Given the description of an element on the screen output the (x, y) to click on. 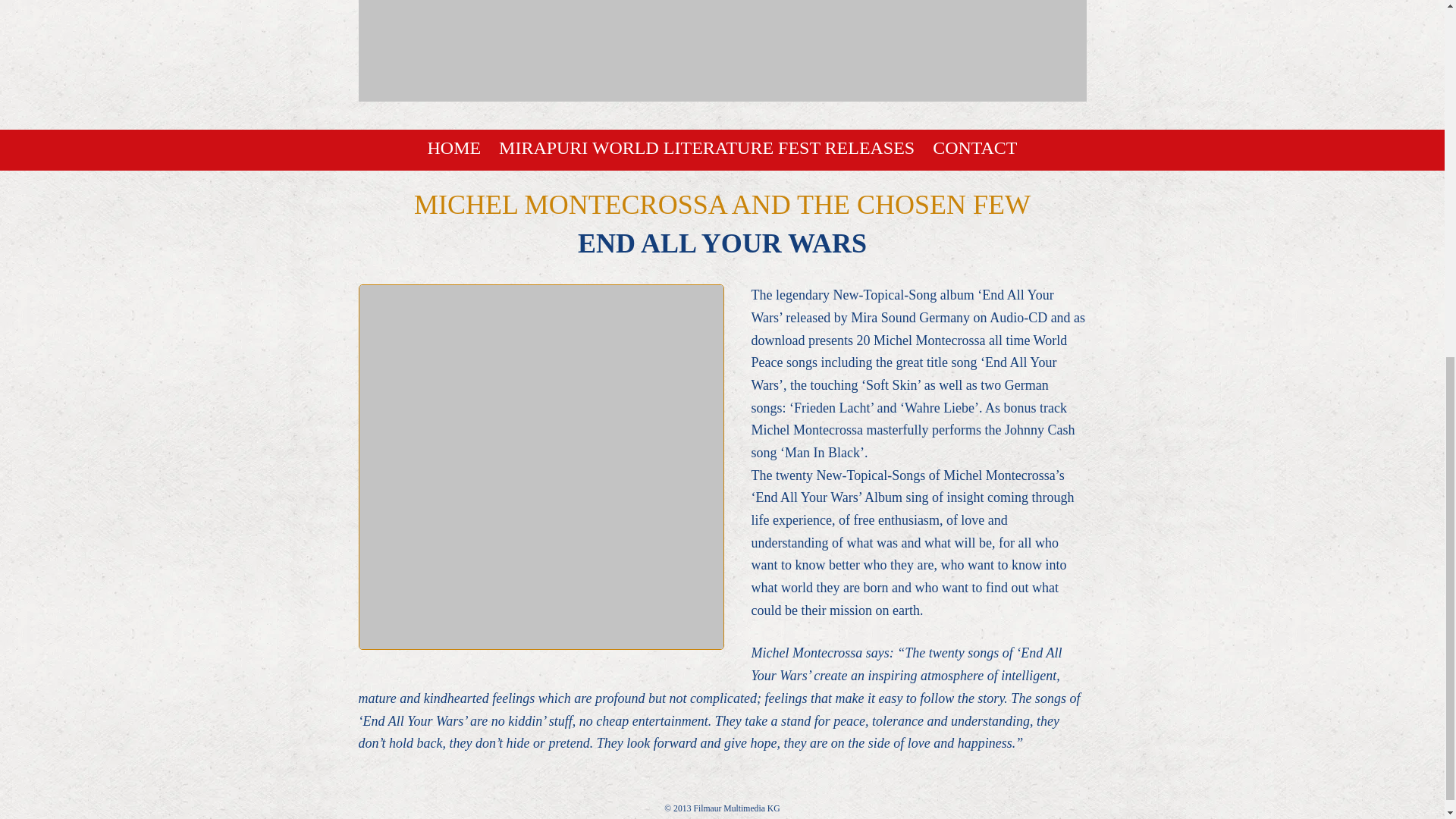
HOME (454, 148)
MICHEL MONTECROSSA AND THE CHOSEN FEW (721, 204)
CONTACT (974, 148)
MIRAPURI WORLD LITERATURE FEST RELEASES (706, 148)
Mirapuri World Literature and Multimedia Fest (722, 86)
